Given the description of an element on the screen output the (x, y) to click on. 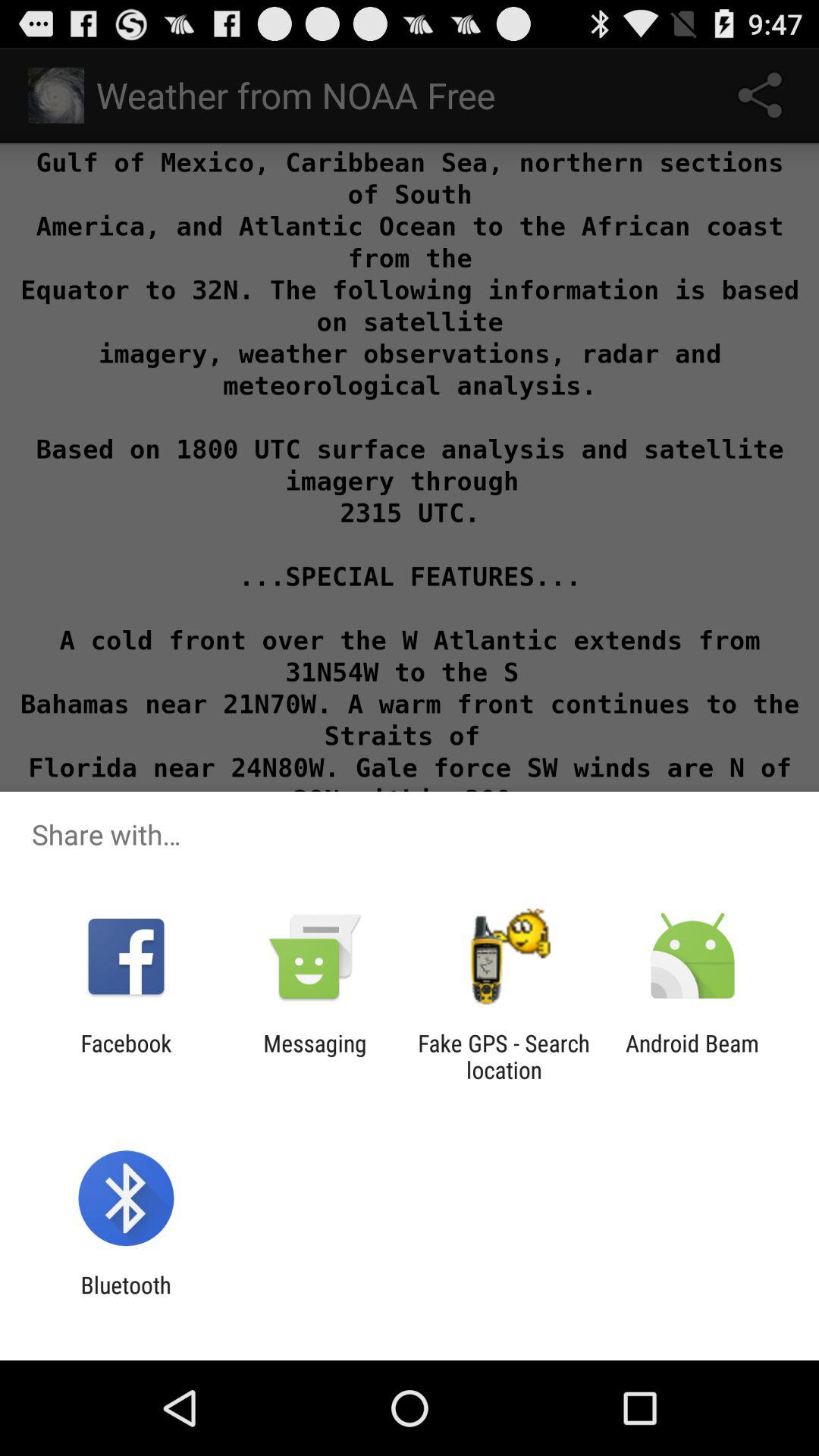
click the icon next to the messaging (125, 1056)
